Given the description of an element on the screen output the (x, y) to click on. 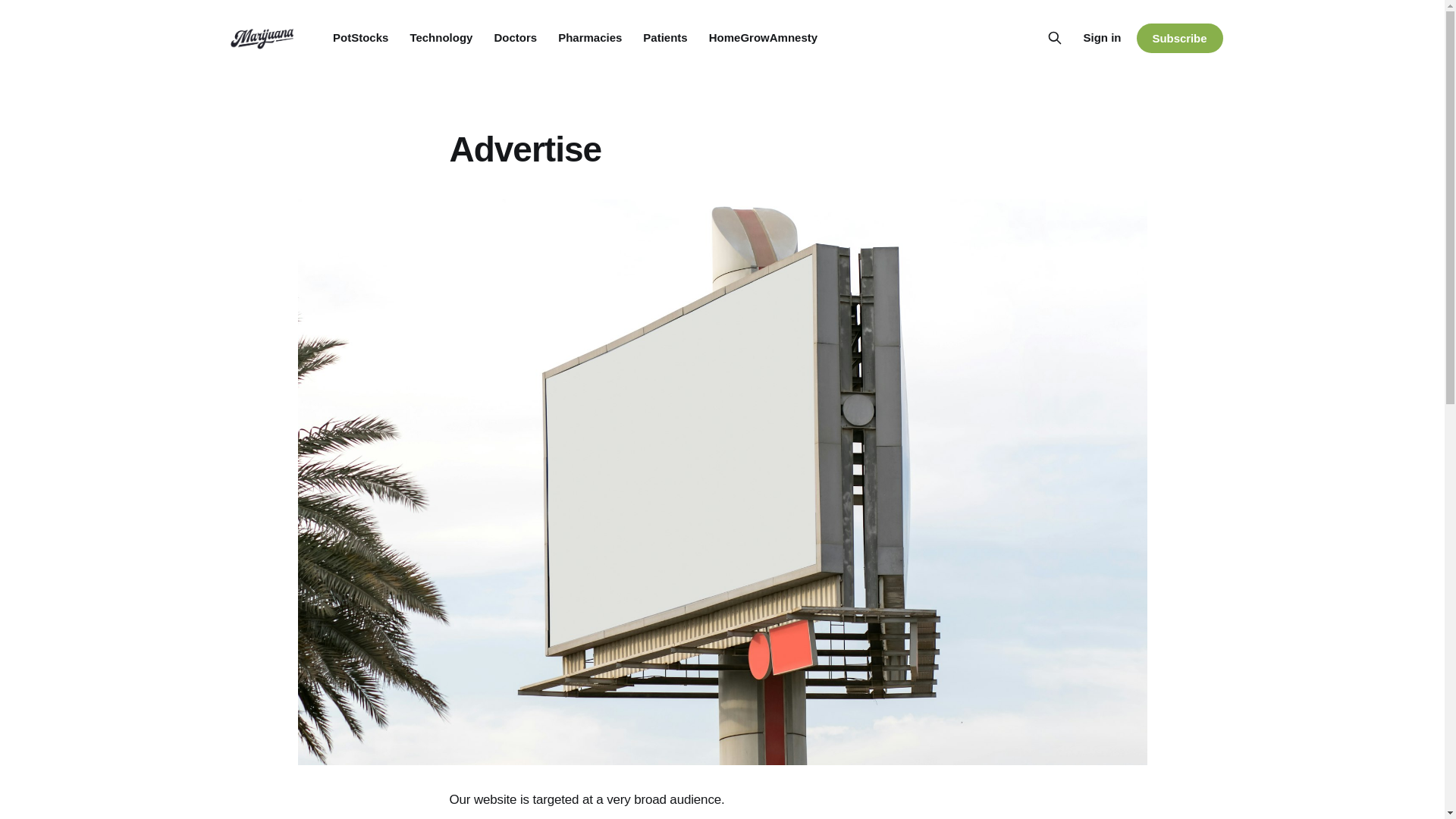
Technology (440, 37)
PotStocks (360, 37)
Doctors (515, 37)
Pharmacies (589, 37)
HomeGrowAmnesty (762, 37)
Patients (665, 37)
Sign in (1102, 37)
Subscribe (1179, 37)
